Given the description of an element on the screen output the (x, y) to click on. 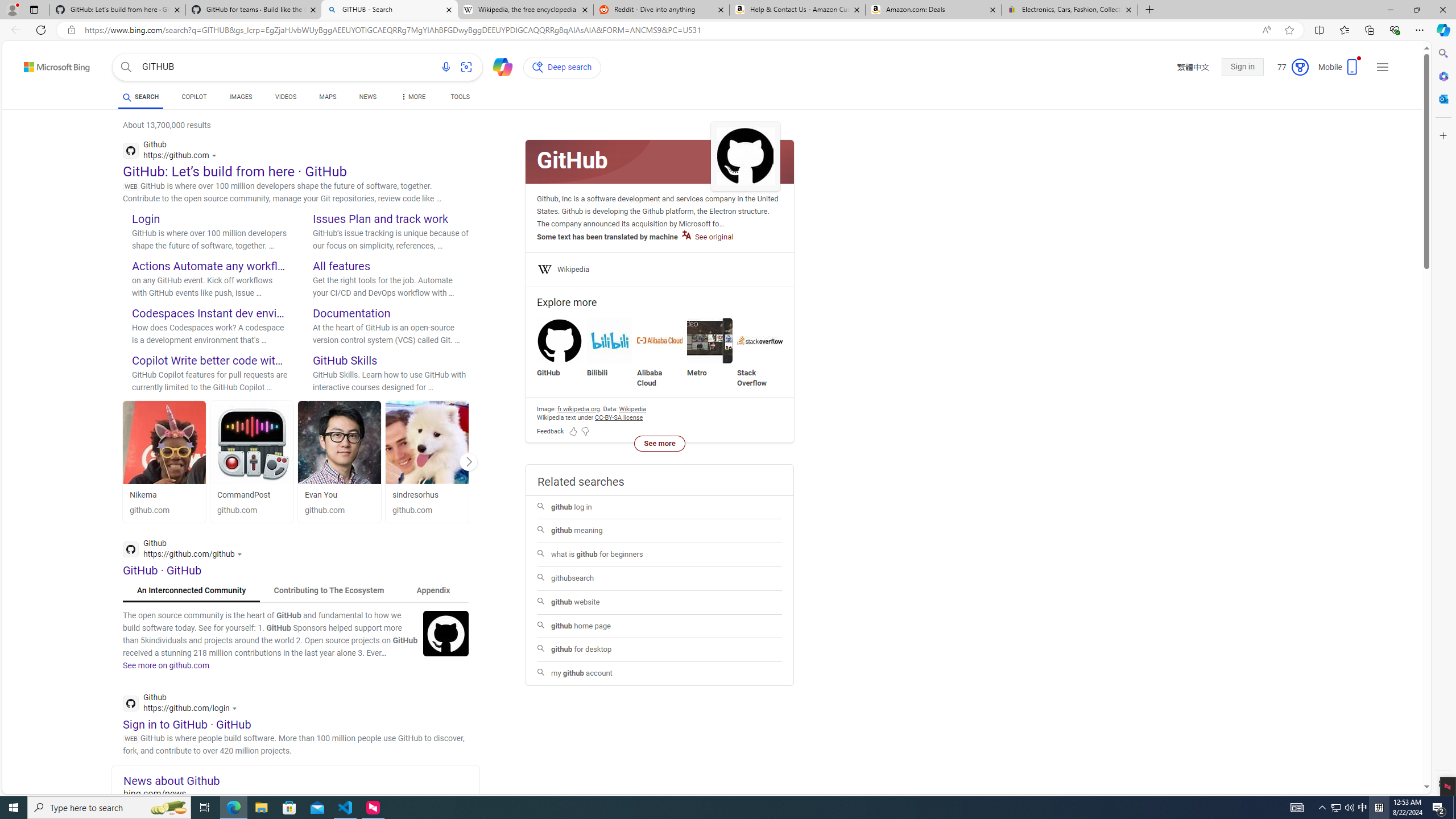
github home page (659, 626)
Chat (497, 65)
Actions for this site (235, 708)
AutomationID: rh_meter (1299, 66)
CommandPost (251, 494)
CC-BY-SA license (619, 417)
my github account (659, 673)
Reddit - Dive into anything (660, 9)
An Interconnected Community (191, 590)
See original (707, 236)
MAPS (327, 96)
